Given the description of an element on the screen output the (x, y) to click on. 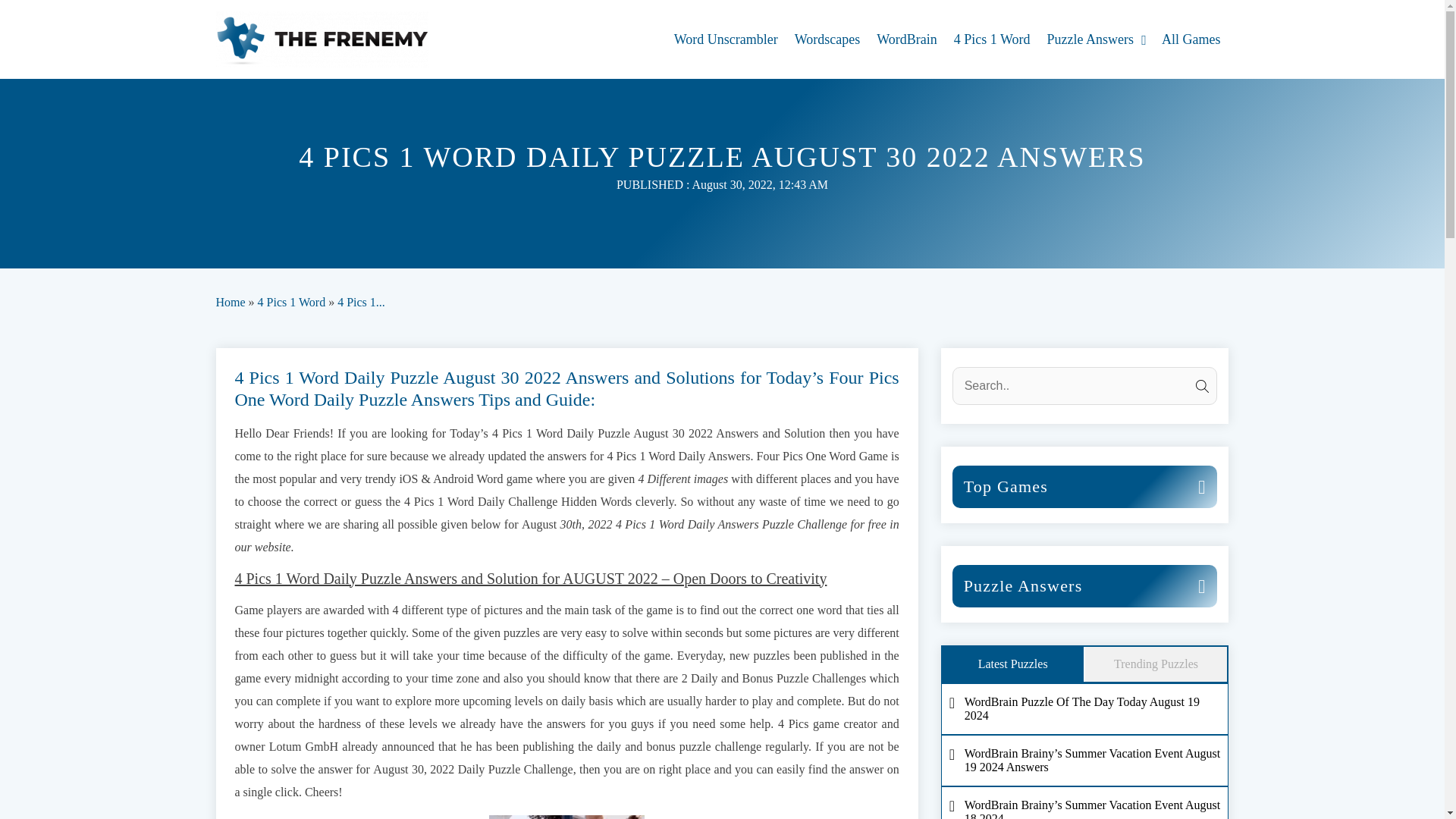
Wordscapes (827, 39)
Puzzle Answers (1096, 39)
4 Pics 1... (361, 301)
4 Pics 1 Word (291, 301)
4 Pics 1 Word (992, 39)
Word Unscrambler (726, 39)
All Games (1190, 39)
WordBrain (906, 39)
